Given the description of an element on the screen output the (x, y) to click on. 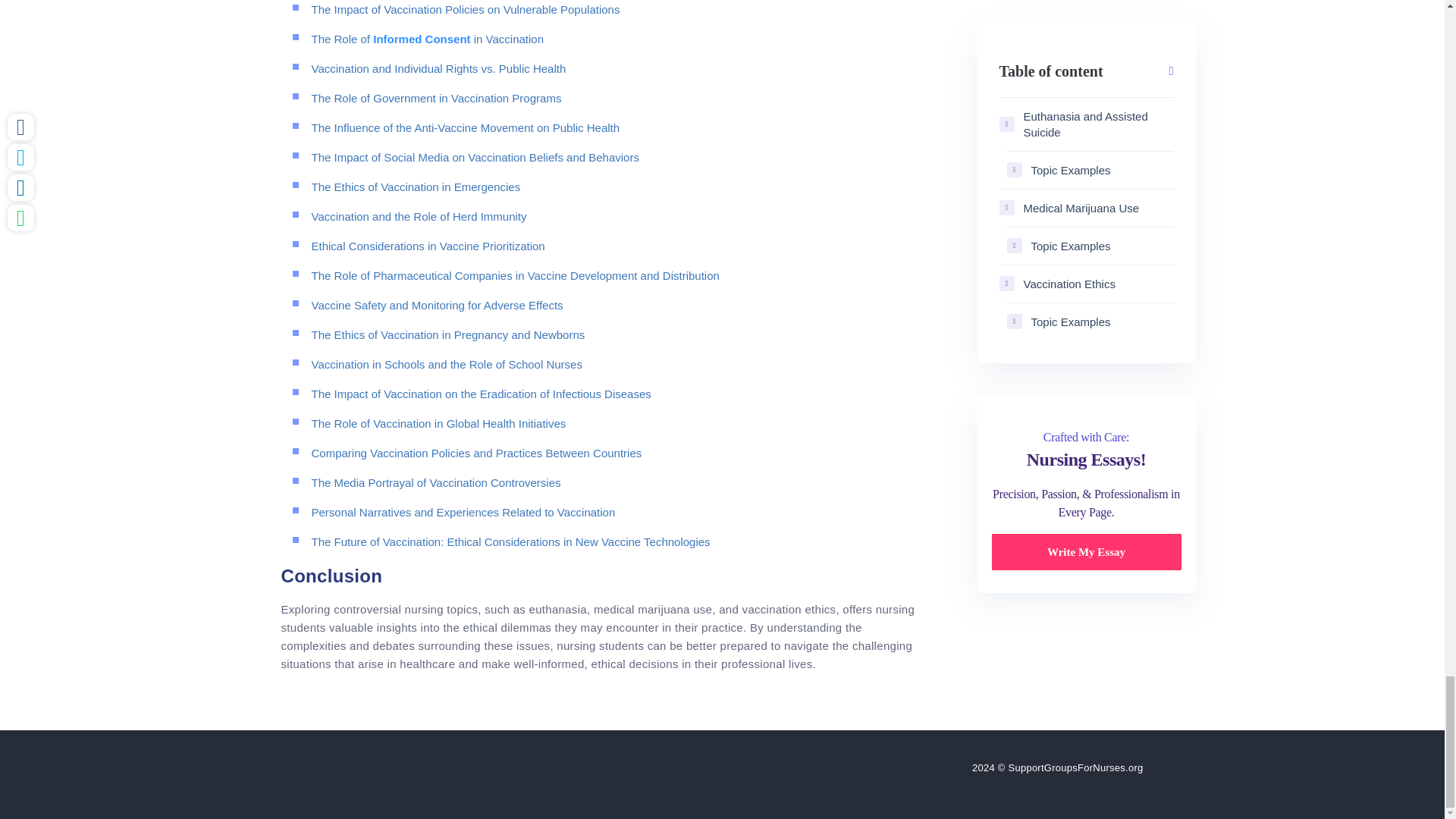
Informed Consent (421, 38)
